Given the description of an element on the screen output the (x, y) to click on. 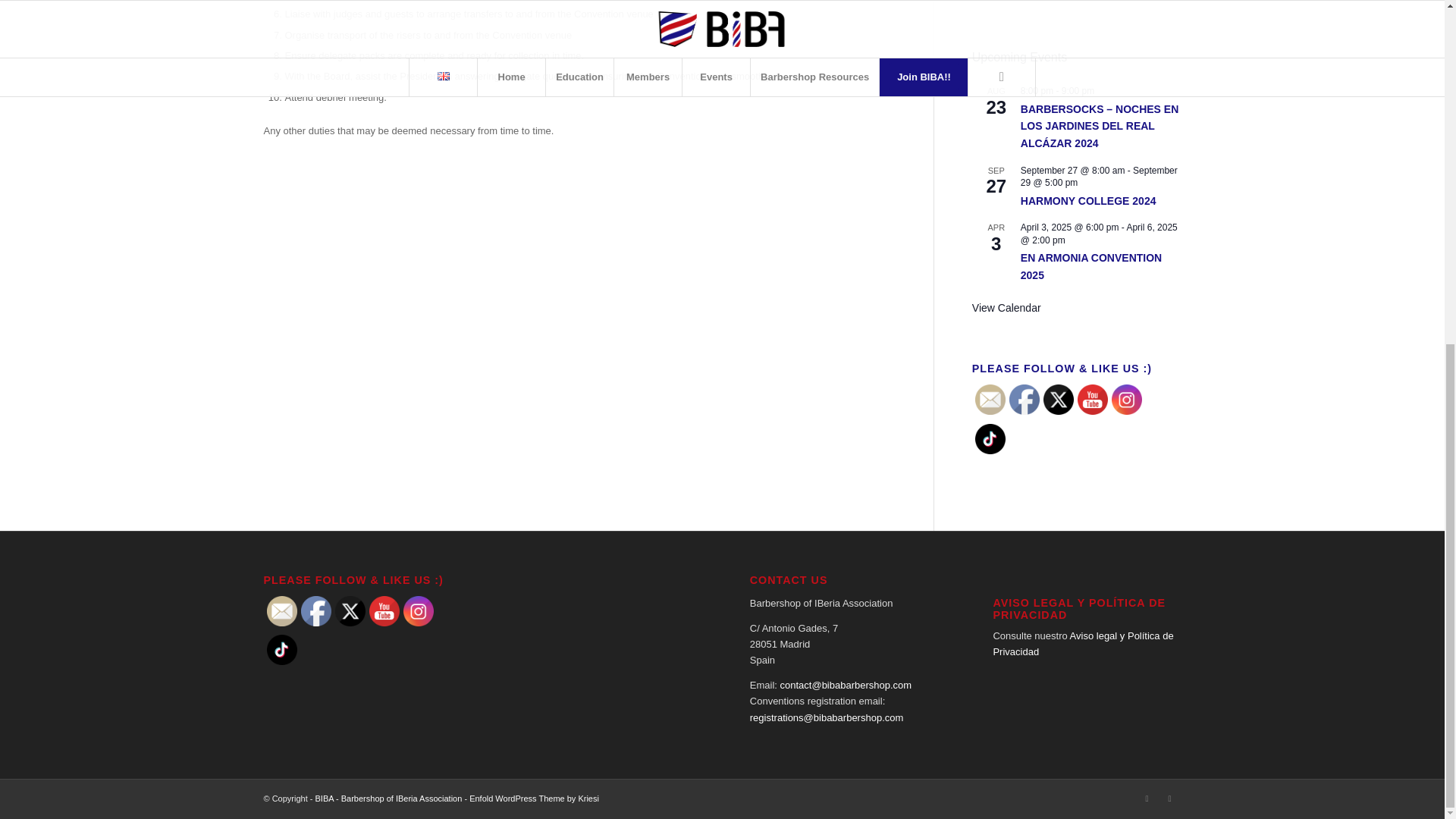
Harmony College 2024 (1088, 201)
Twitter (1058, 399)
View more events. (1006, 308)
Facebook (1024, 399)
Follow by Email (990, 399)
Instagram (1126, 399)
YouTube (1092, 399)
En Armonia Convention 2025 (1090, 266)
